Given the description of an element on the screen output the (x, y) to click on. 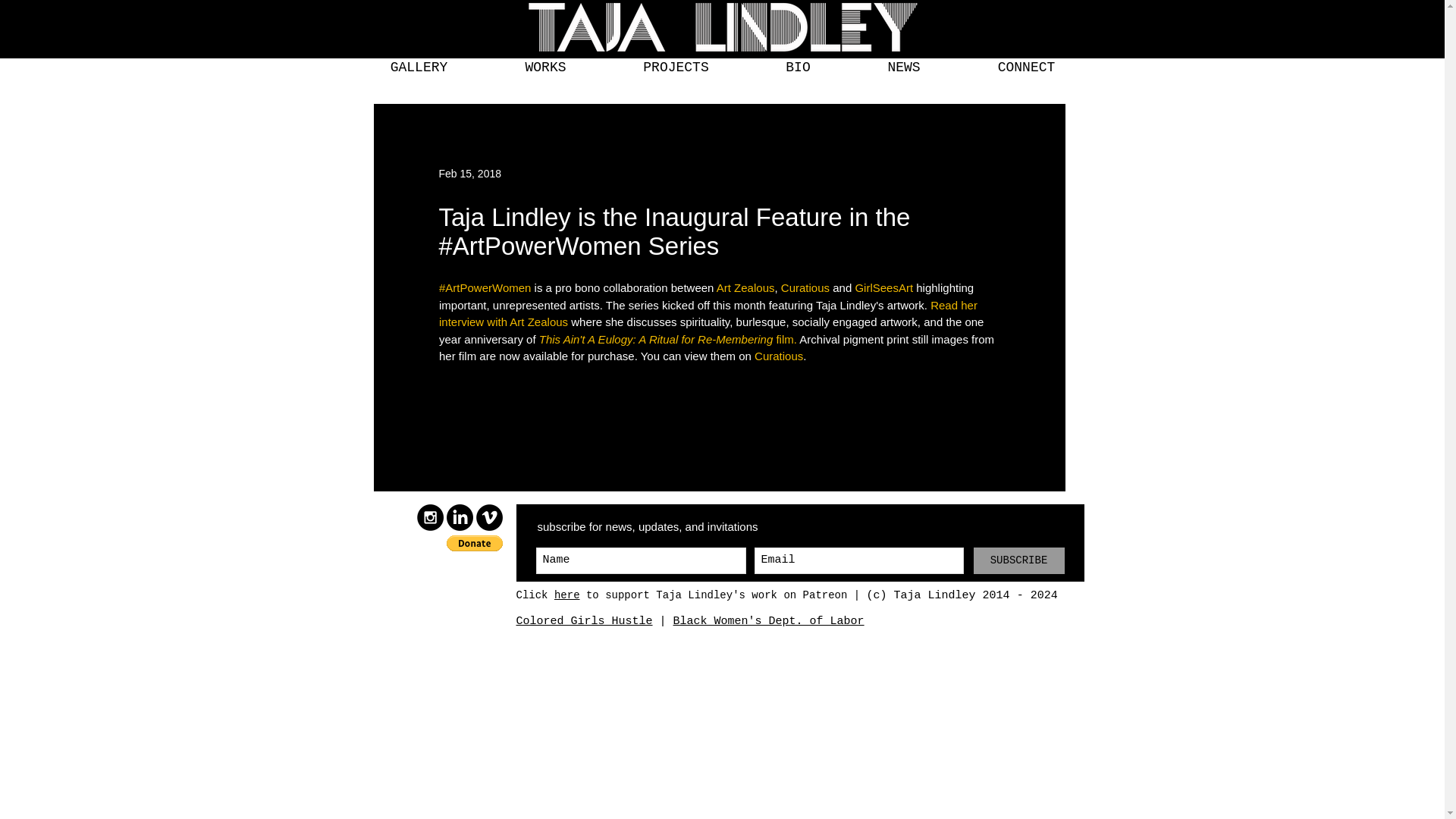
Curatious (778, 355)
Art Zealous (745, 287)
Read her interview with Art Zealous (708, 313)
GirlSeesArt (883, 287)
Black Women's Dept. of Labor (768, 620)
Colored Girls Hustle (583, 620)
NEWS (903, 67)
Curatious (804, 287)
Feb 15, 2018 (469, 173)
This Ain't A Eulogy: A Ritual for Re-Membering (655, 338)
 film. (784, 338)
here (566, 594)
SUBSCRIBE (1019, 560)
